Given the description of an element on the screen output the (x, y) to click on. 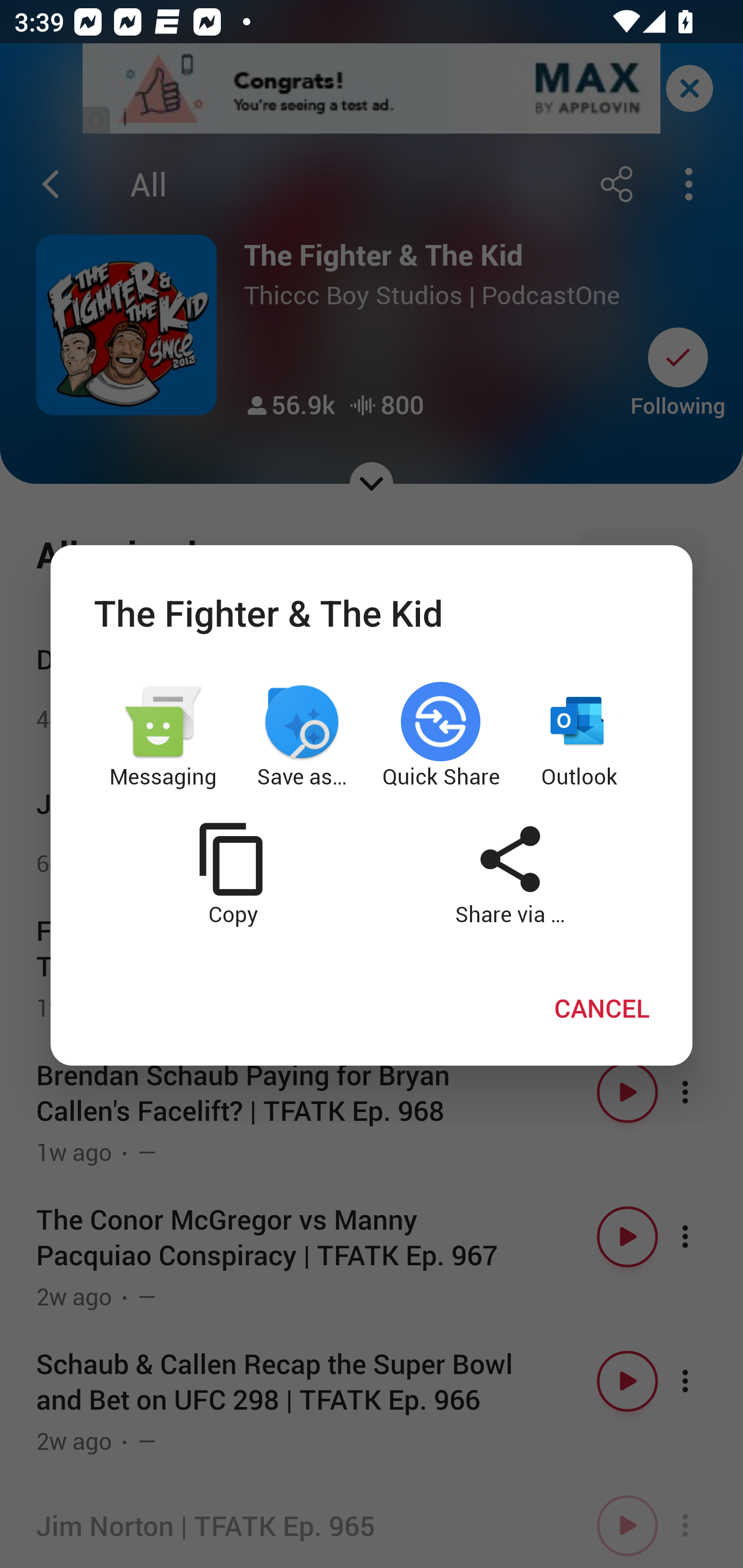
Messaging (163, 735)
Save as… (301, 735)
Quick Share (440, 735)
Outlook (579, 735)
Copy (232, 874)
Share via … (509, 874)
CANCEL (600, 1007)
